Given the description of an element on the screen output the (x, y) to click on. 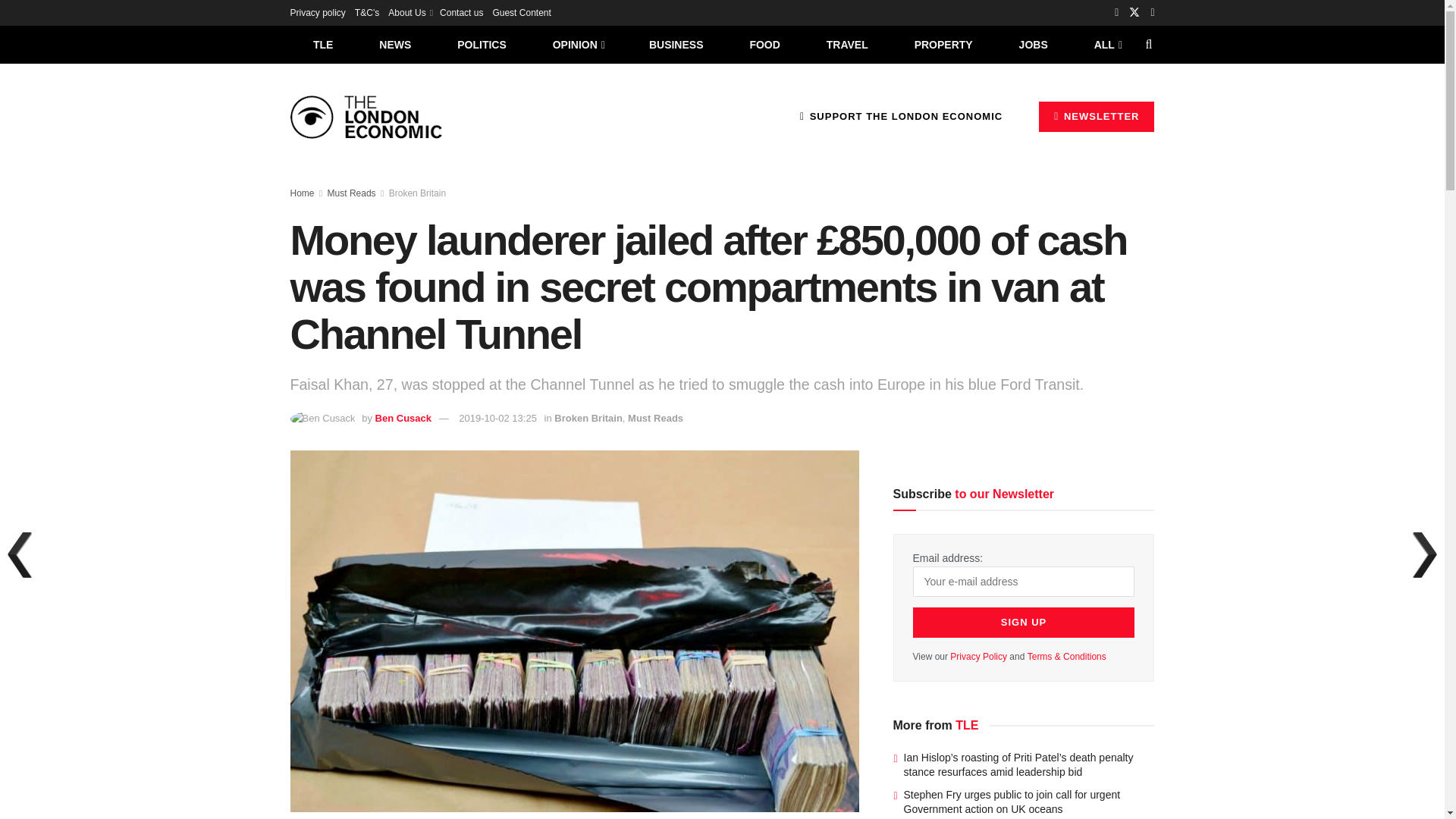
About Us (409, 12)
Contact us (461, 12)
POLITICS (481, 44)
NEWSLETTER (1096, 116)
ALL (1106, 44)
BUSINESS (676, 44)
OPINION (577, 44)
JOBS (1032, 44)
Privacy policy (317, 12)
Guest Content (521, 12)
TLE (322, 44)
Sign up (1023, 622)
Home (301, 193)
PROPERTY (943, 44)
SUPPORT THE LONDON ECONOMIC (900, 116)
